Given the description of an element on the screen output the (x, y) to click on. 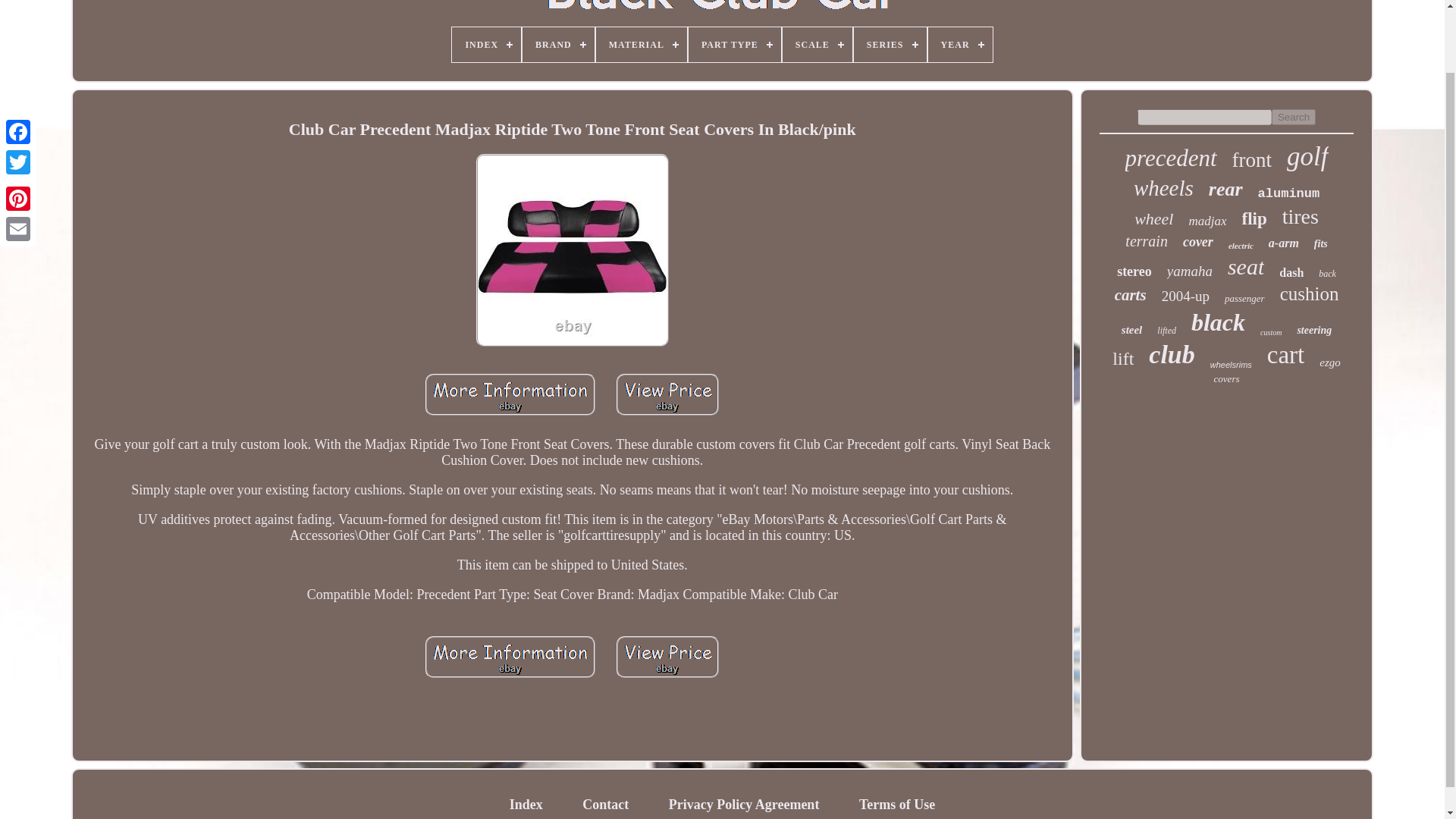
BRAND (558, 44)
INDEX (486, 44)
MATERIAL (641, 44)
Search (1293, 116)
